Given the description of an element on the screen output the (x, y) to click on. 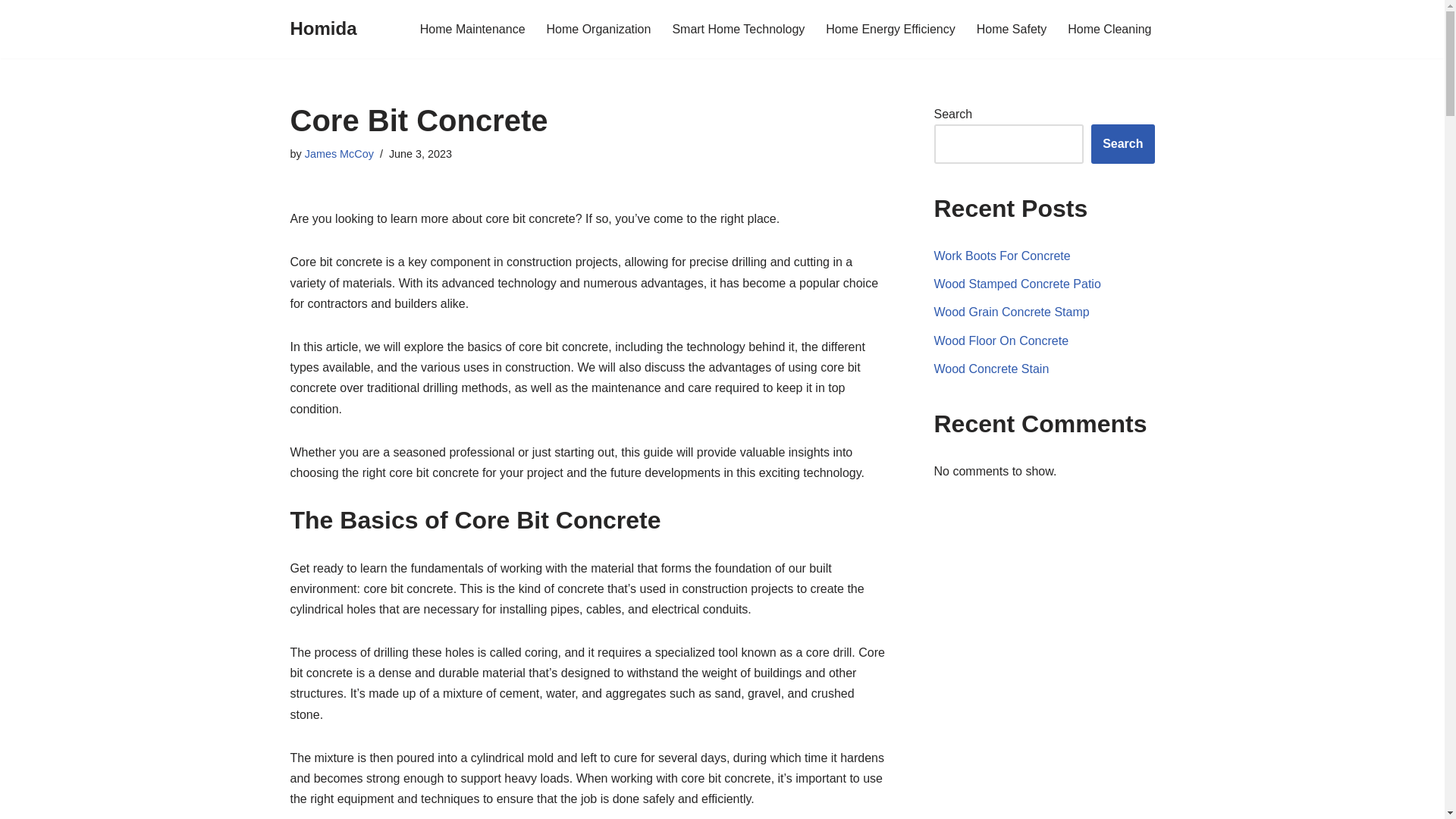
Work Boots For Concrete (1002, 255)
Home Energy Efficiency (890, 28)
Home Maintenance (472, 28)
Skip to content (11, 31)
Home Safety (1011, 28)
Home Cleaning (1109, 28)
Home Organization (598, 28)
Wood Grain Concrete Stamp (1011, 311)
James McCoy (339, 153)
Posts by James McCoy (339, 153)
Wood Stamped Concrete Patio (1017, 283)
Wood Concrete Stain (991, 368)
Wood Floor On Concrete (1001, 340)
Smart Home Technology (738, 28)
Homida (322, 29)
